Given the description of an element on the screen output the (x, y) to click on. 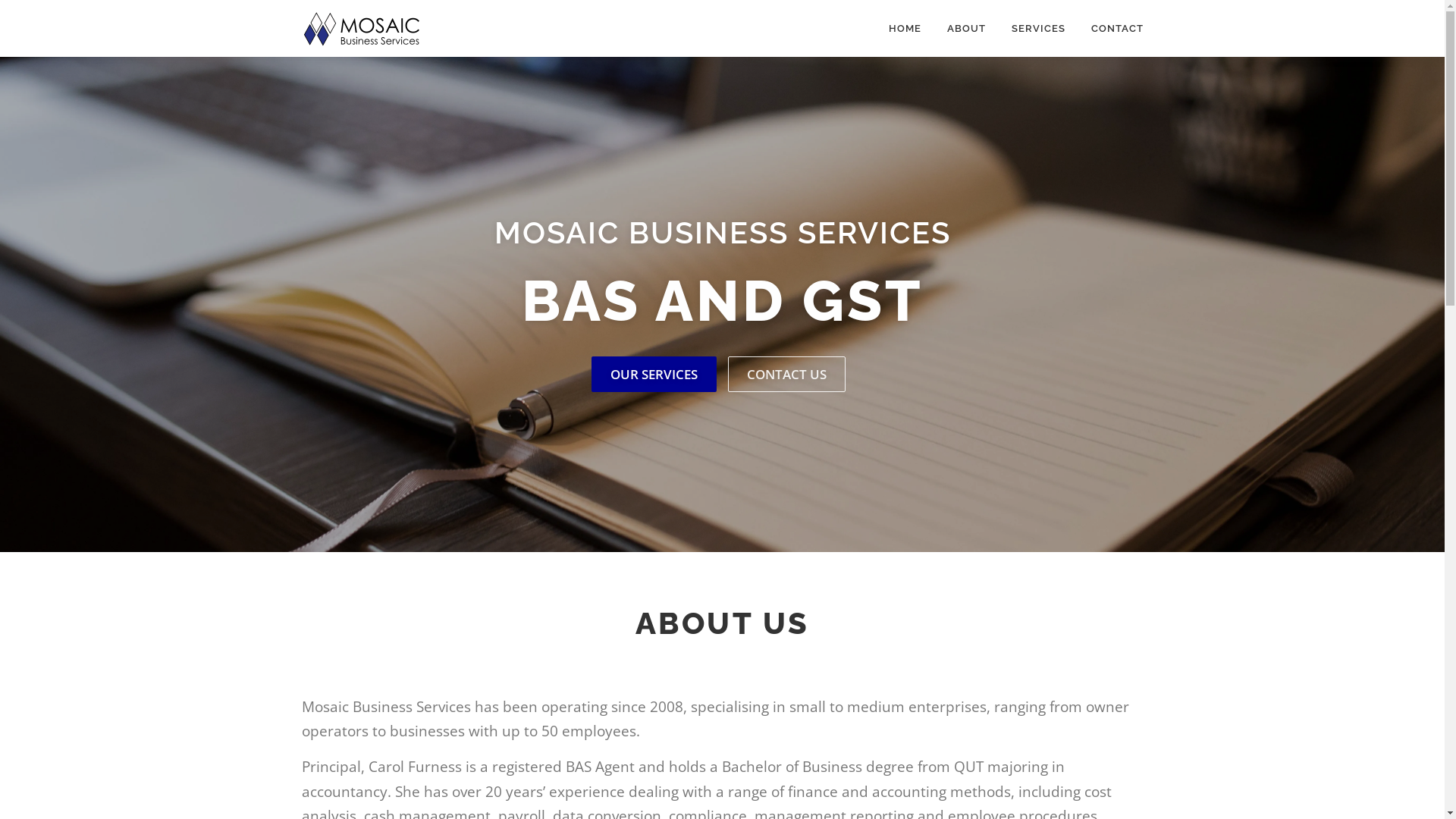
CONTACT Element type: text (1110, 28)
CONTACT US Element type: text (786, 374)
ABOUT Element type: text (966, 28)
HOME Element type: text (904, 28)
SERVICES Element type: text (1037, 28)
OUR SERVICES Element type: text (653, 374)
